Given the description of an element on the screen output the (x, y) to click on. 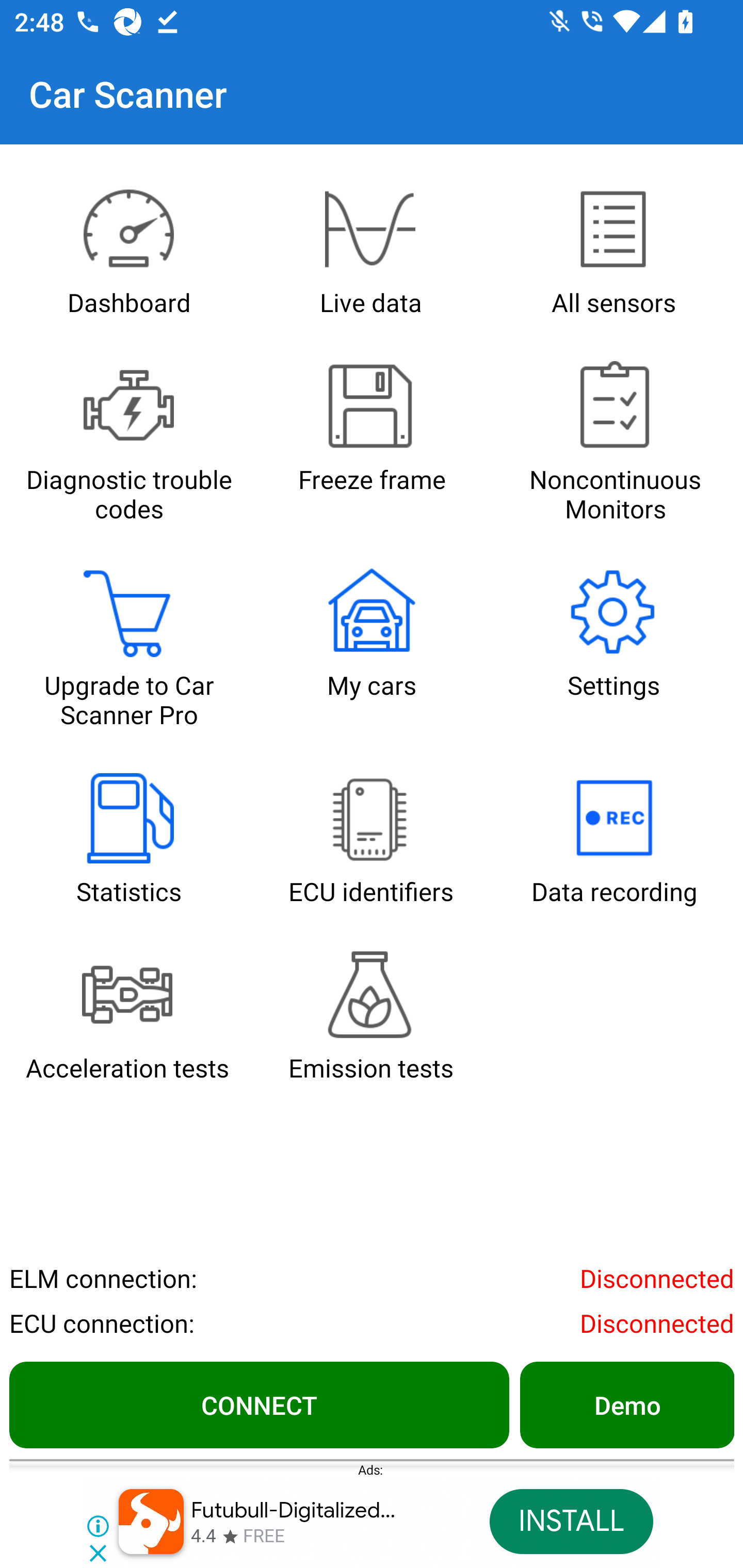
CONNECT (258, 1404)
Demo (627, 1404)
INSTALL (570, 1521)
Futubull-Digitalized… (293, 1510)
4.4 (203, 1537)
FREE (263, 1537)
